Given the description of an element on the screen output the (x, y) to click on. 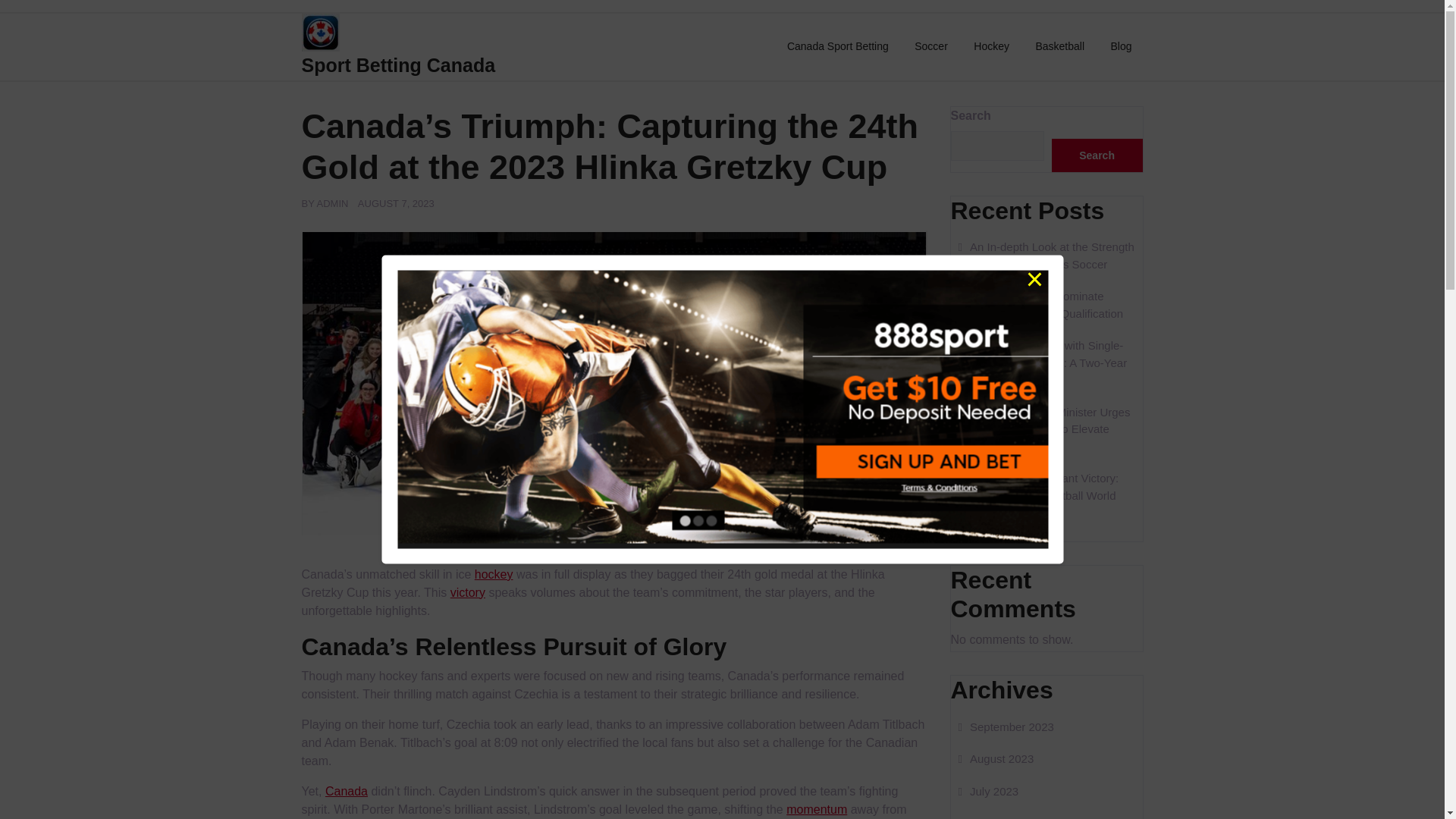
Canada (346, 790)
hockey (493, 574)
Soccer (930, 46)
Canada Women Dominate Jamaica In Olympic Qualification (1041, 304)
Blog (1120, 46)
Basketball (1059, 46)
August 2023 (995, 758)
Search (1096, 154)
ADMIN (333, 202)
July 2023 (988, 790)
momentum (816, 809)
victory (466, 592)
September 2023 (1006, 726)
Canada Sport Betting (837, 46)
Hockey (991, 46)
